Given the description of an element on the screen output the (x, y) to click on. 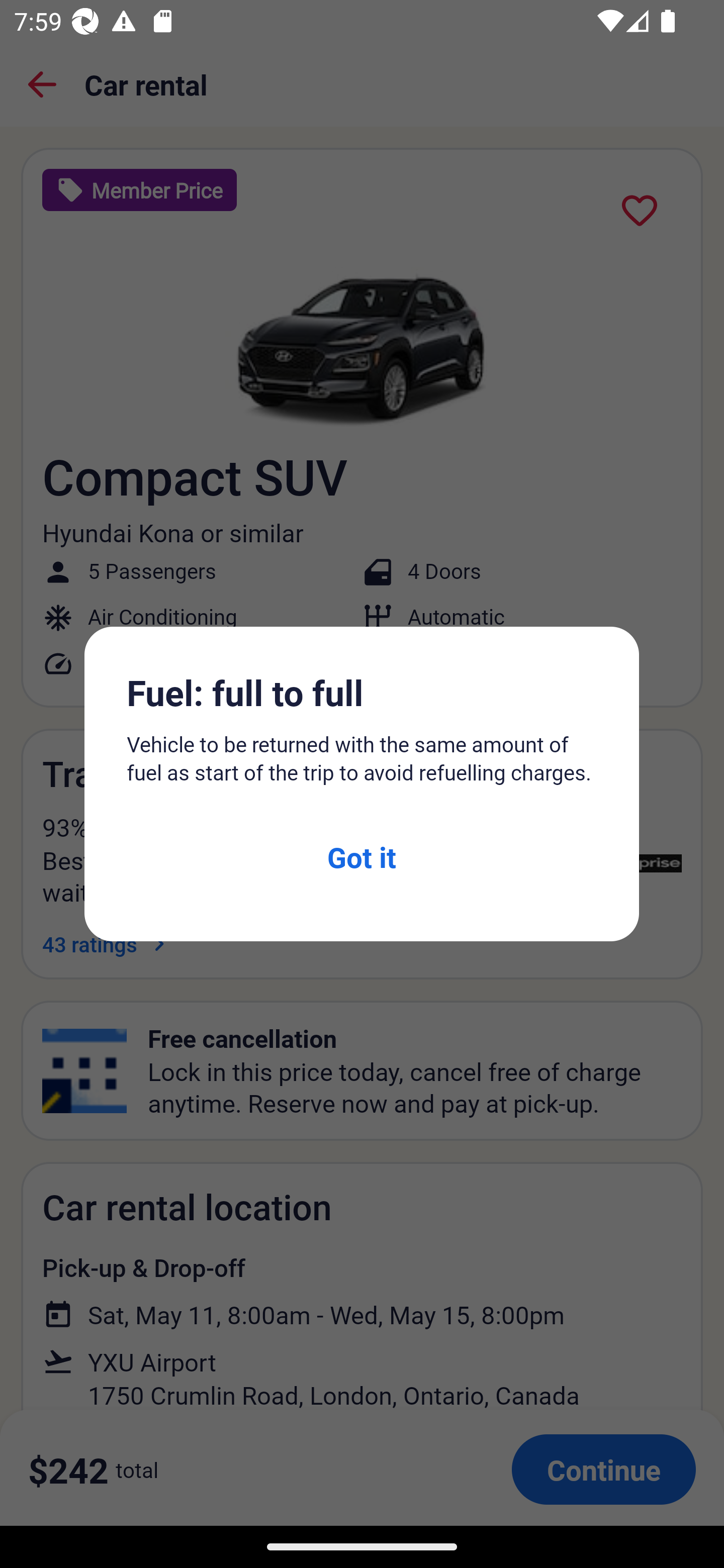
Got it (361, 856)
